Given the description of an element on the screen output the (x, y) to click on. 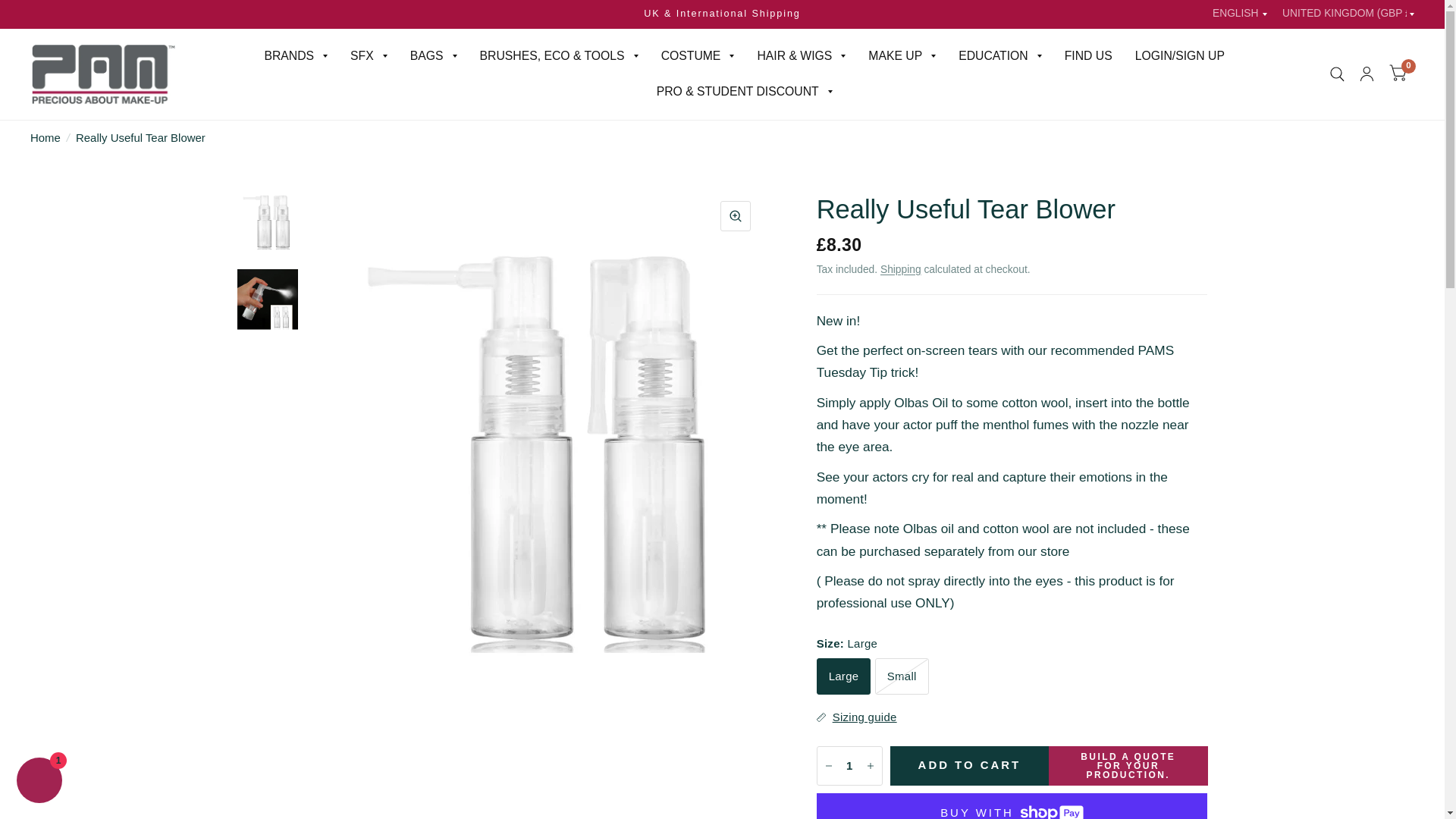
1 (849, 765)
